Given the description of an element on the screen output the (x, y) to click on. 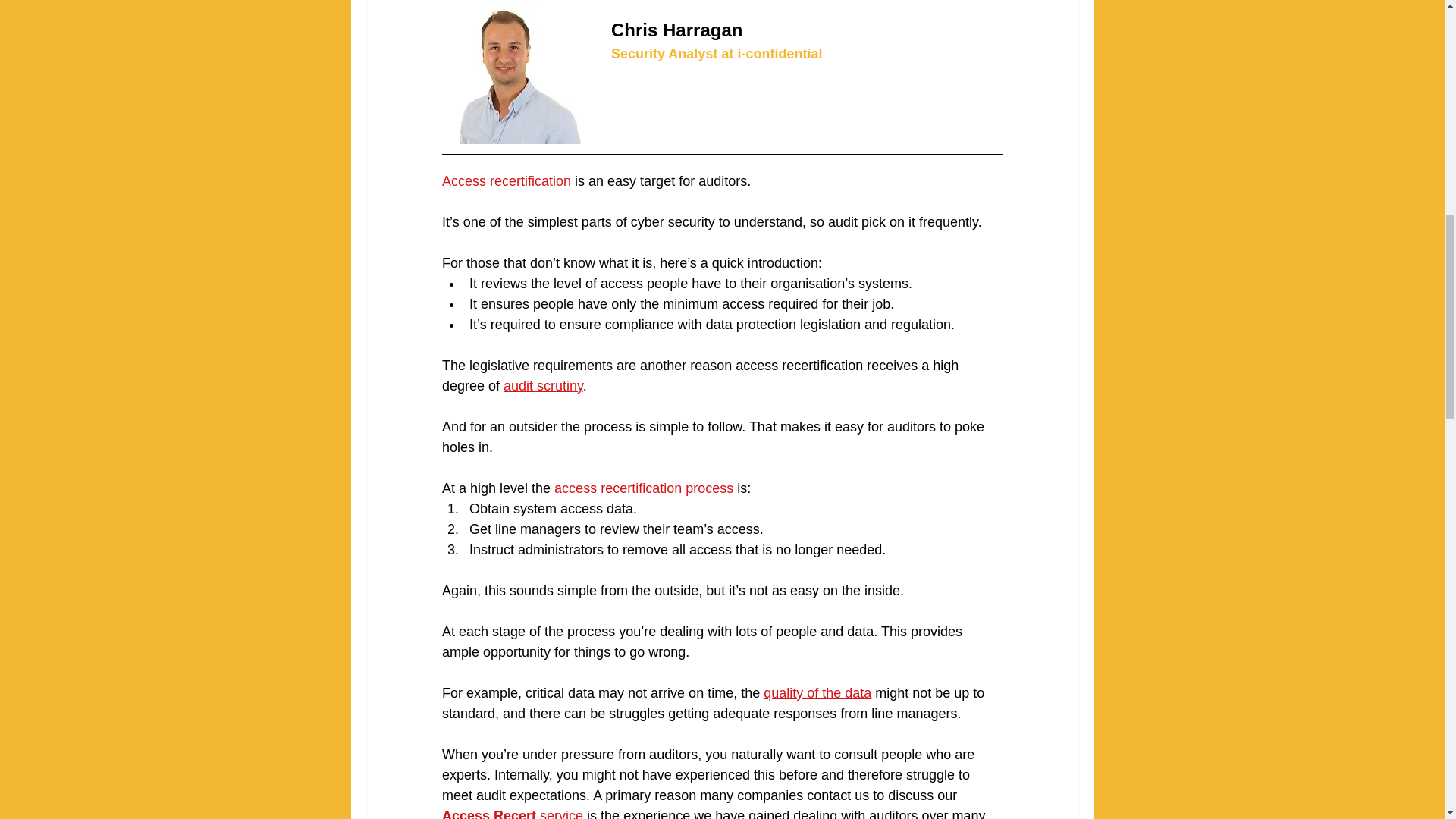
Access Recert (488, 813)
quality of the data (816, 693)
 service (559, 813)
Access recertification (505, 181)
access recertification process (643, 488)
audit scrutiny (543, 385)
